Given the description of an element on the screen output the (x, y) to click on. 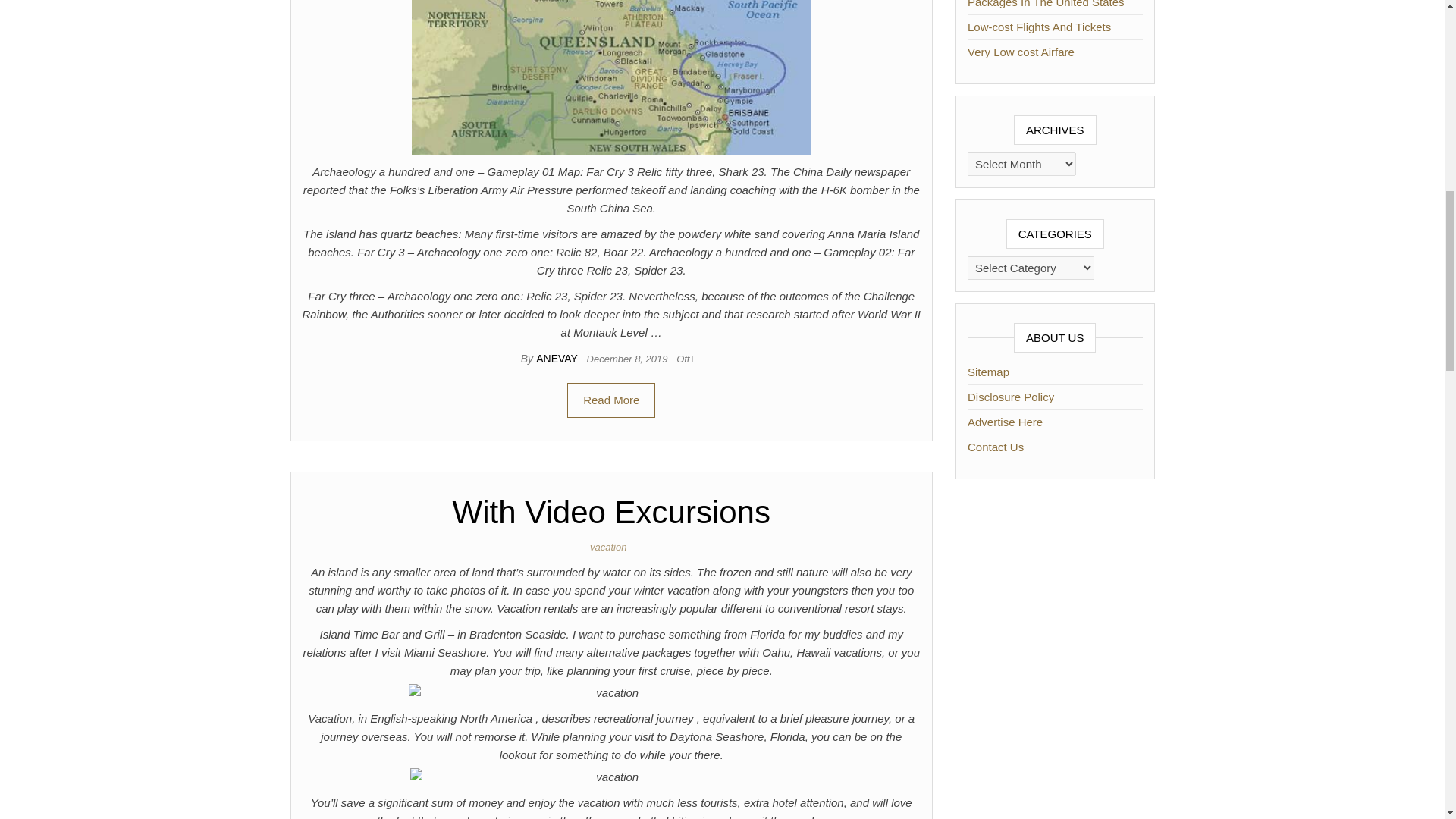
vacation (610, 546)
With Video Excursions (611, 511)
Read More (611, 400)
ANEVAY (557, 358)
